Given the description of an element on the screen output the (x, y) to click on. 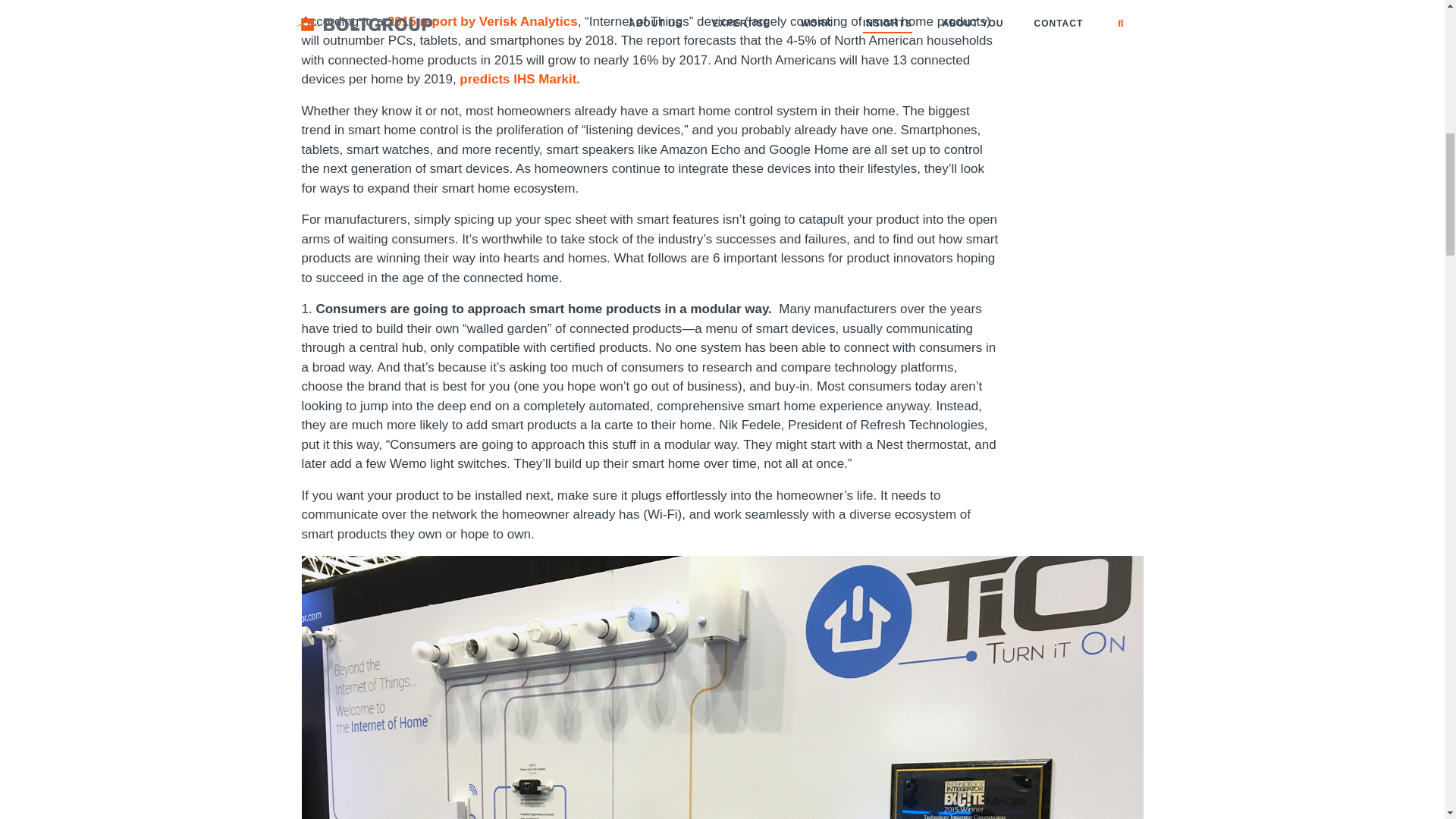
predicts IHS Markit. (519, 79)
2015 report by Verisk Analytics (482, 21)
